Given the description of an element on the screen output the (x, y) to click on. 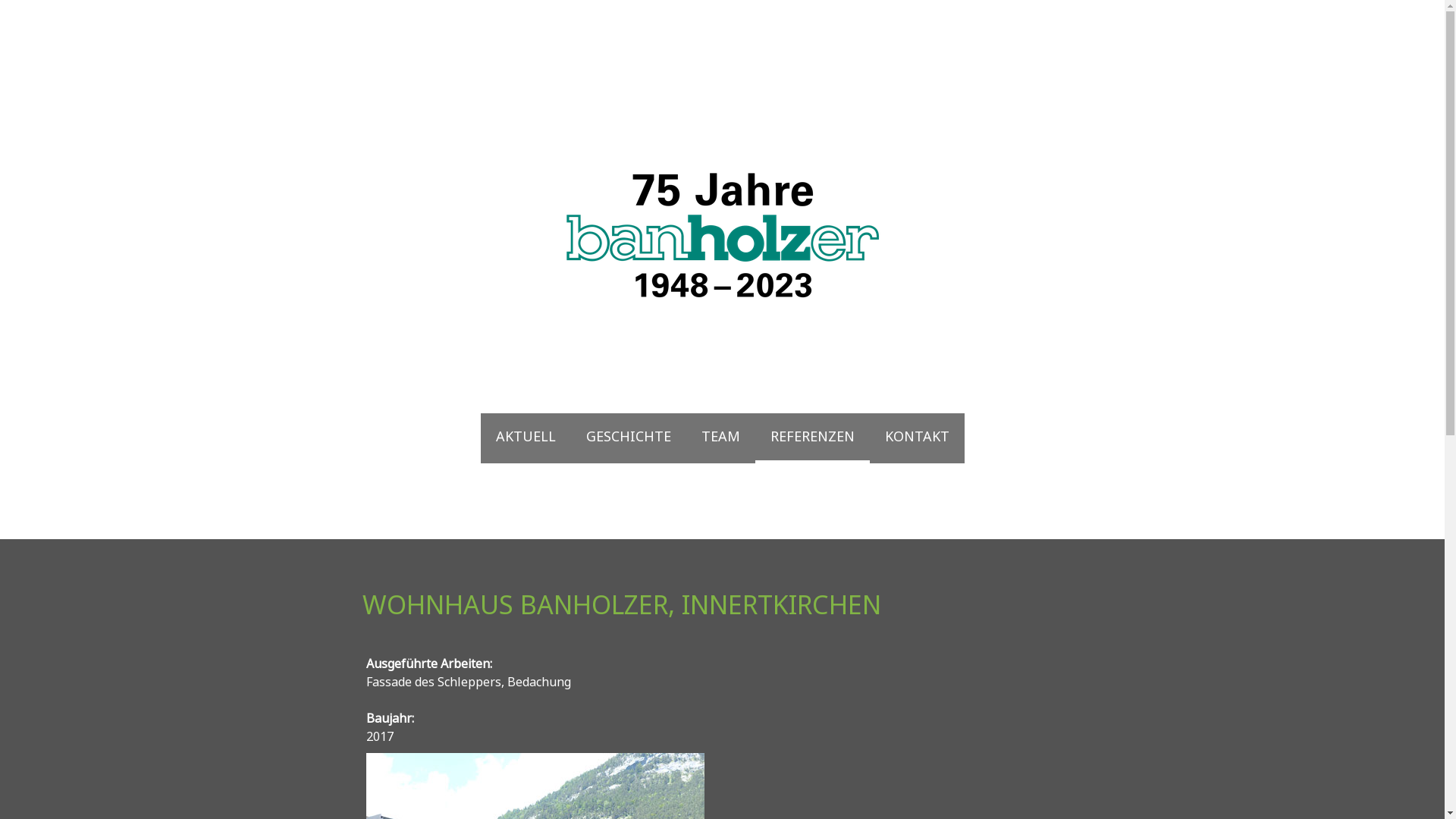
REFERENZEN Element type: text (812, 438)
AKTUELL Element type: text (525, 438)
TEAM Element type: text (719, 438)
KONTAKT Element type: text (916, 438)
GESCHICHTE Element type: text (627, 438)
